Given the description of an element on the screen output the (x, y) to click on. 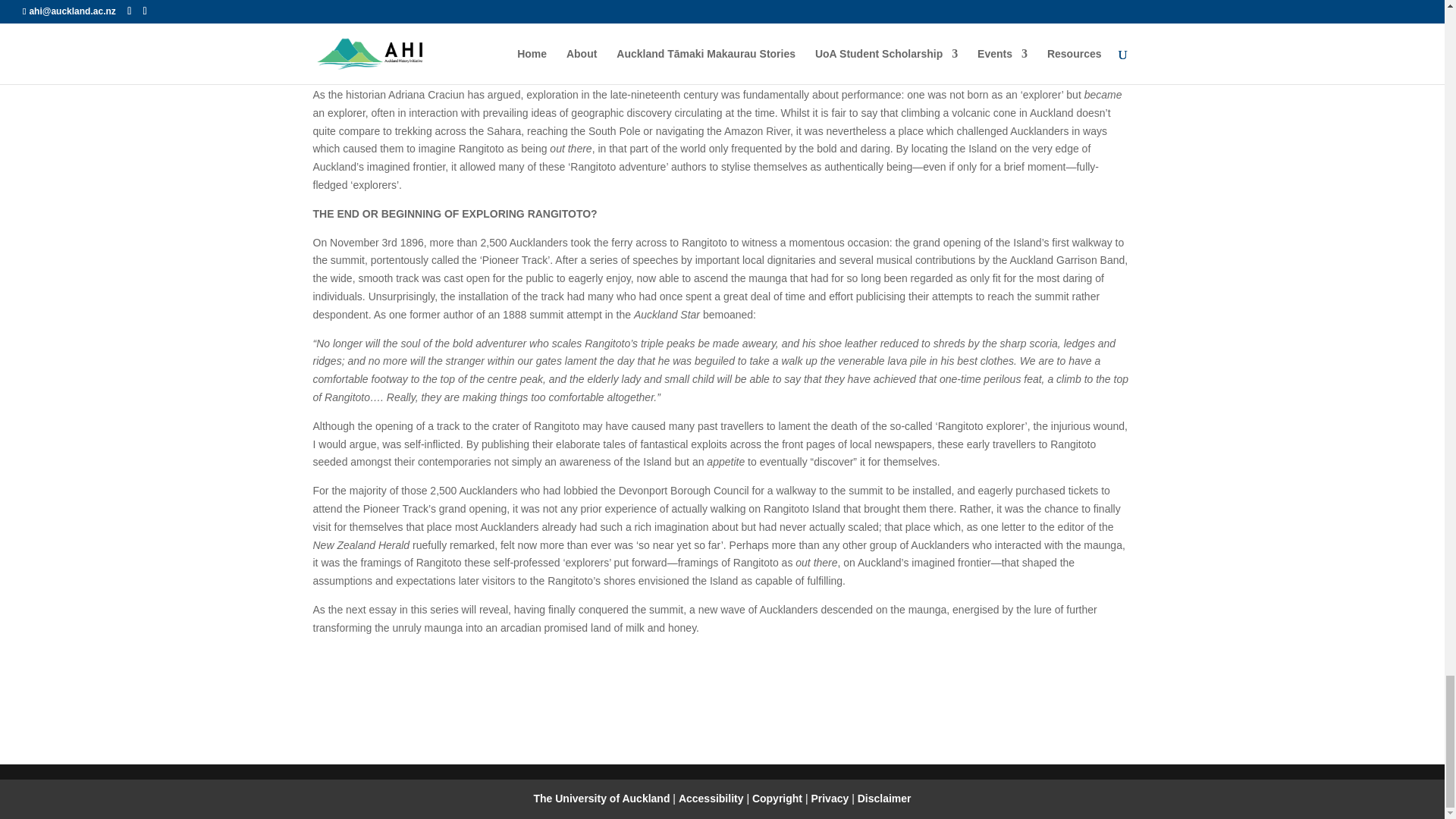
Accessibility (712, 798)
The University of Auckland (600, 798)
